Given the description of an element on the screen output the (x, y) to click on. 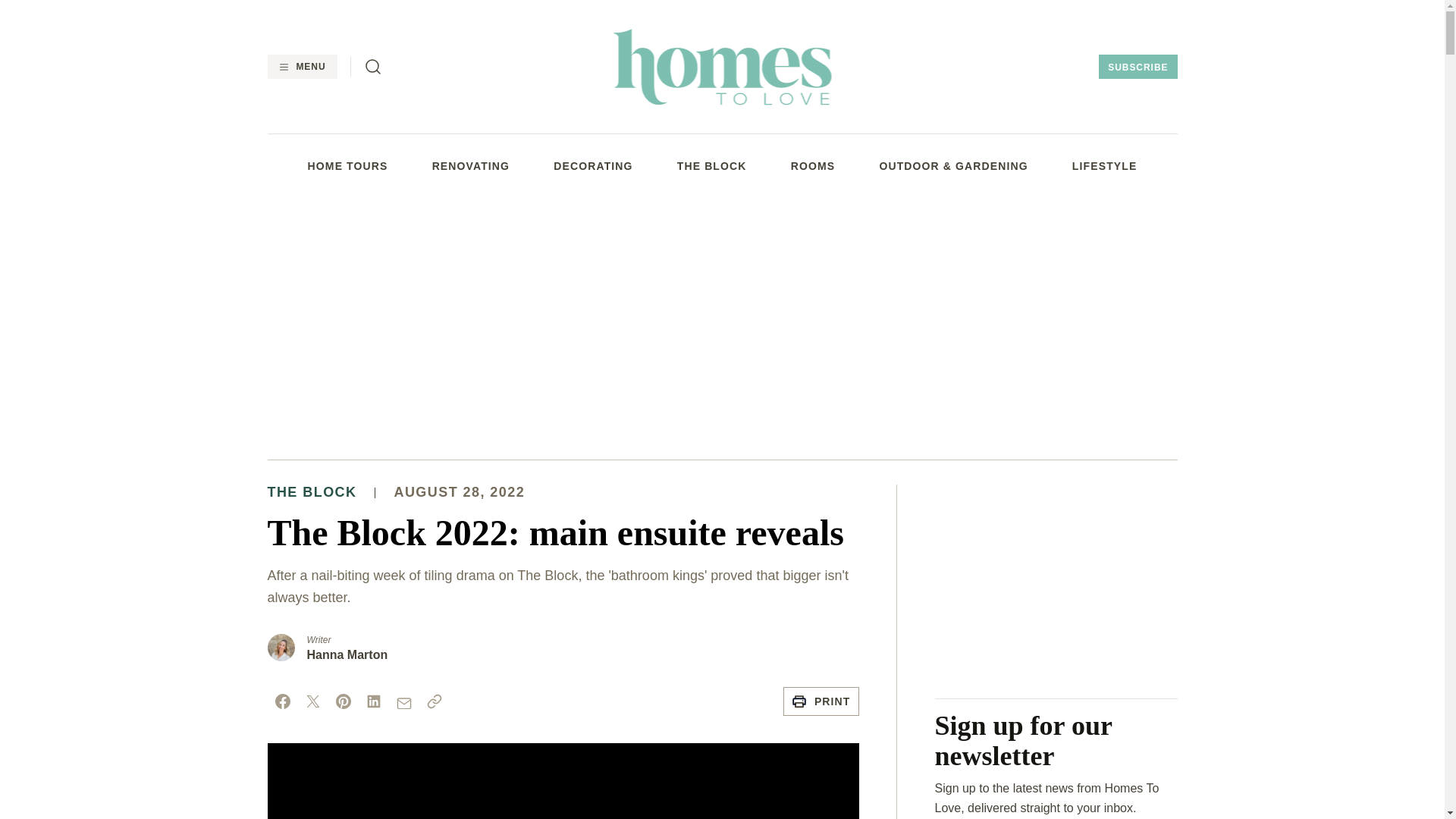
LIFESTYLE (1104, 165)
DECORATING (592, 165)
HOME TOURS (347, 165)
THE BLOCK (711, 165)
SUBSCRIBE (1137, 66)
ROOMS (812, 165)
RENOVATING (470, 165)
MENU (301, 66)
3rd party ad content (1055, 579)
